Given the description of an element on the screen output the (x, y) to click on. 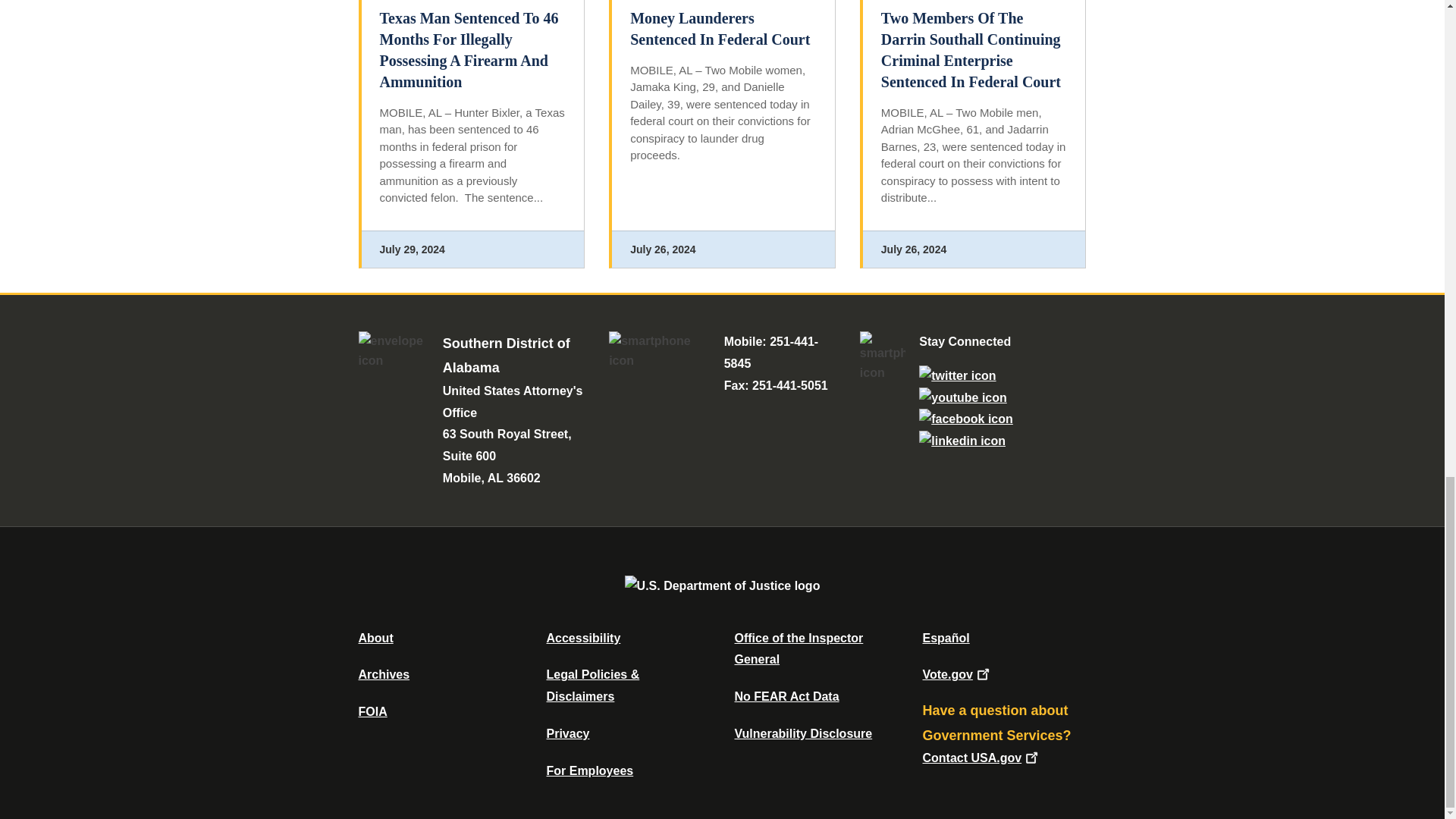
Accessibility Statement (583, 637)
For Employees (589, 770)
About DOJ (375, 637)
Data Posted Pursuant To The No Fear Act (785, 696)
Legal Policies and Disclaimers (592, 685)
Department of Justice Archive (383, 674)
Office of Information Policy (372, 711)
